Given the description of an element on the screen output the (x, y) to click on. 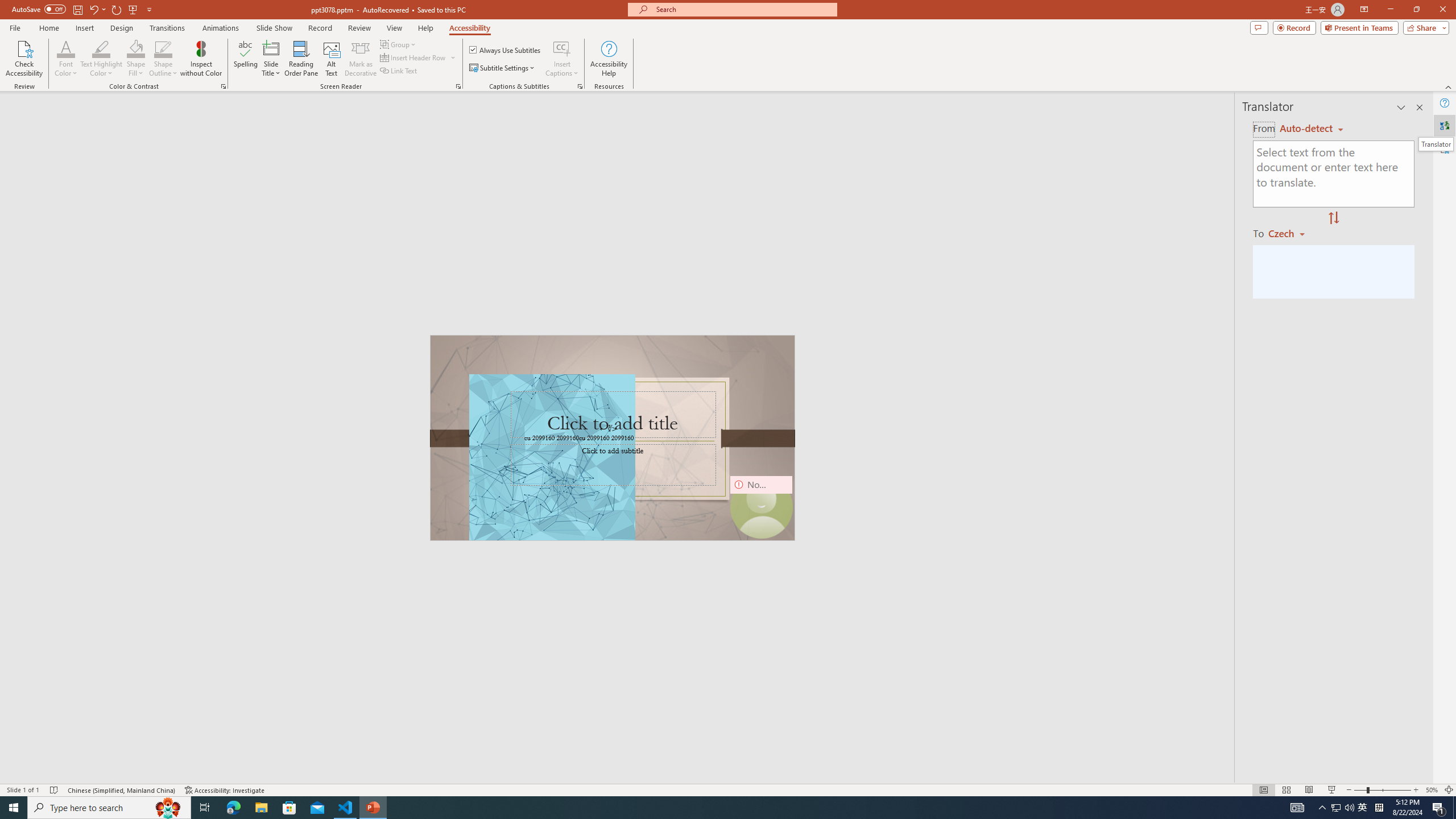
Insert Header Row (413, 56)
